Given the description of an element on the screen output the (x, y) to click on. 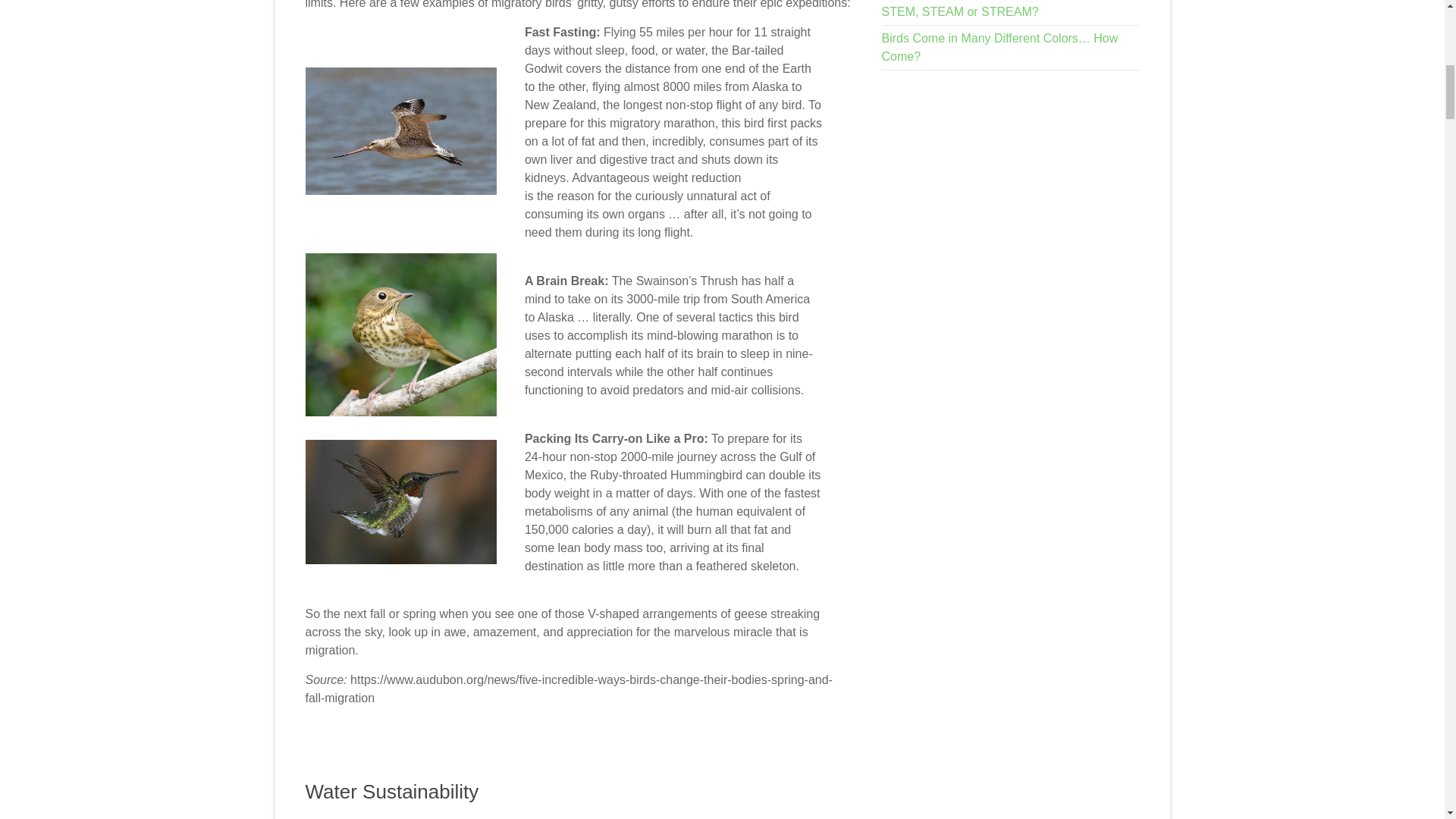
Water Sustainability (391, 791)
Water Sustainability (391, 791)
Uncategorized (468, 818)
